Given the description of an element on the screen output the (x, y) to click on. 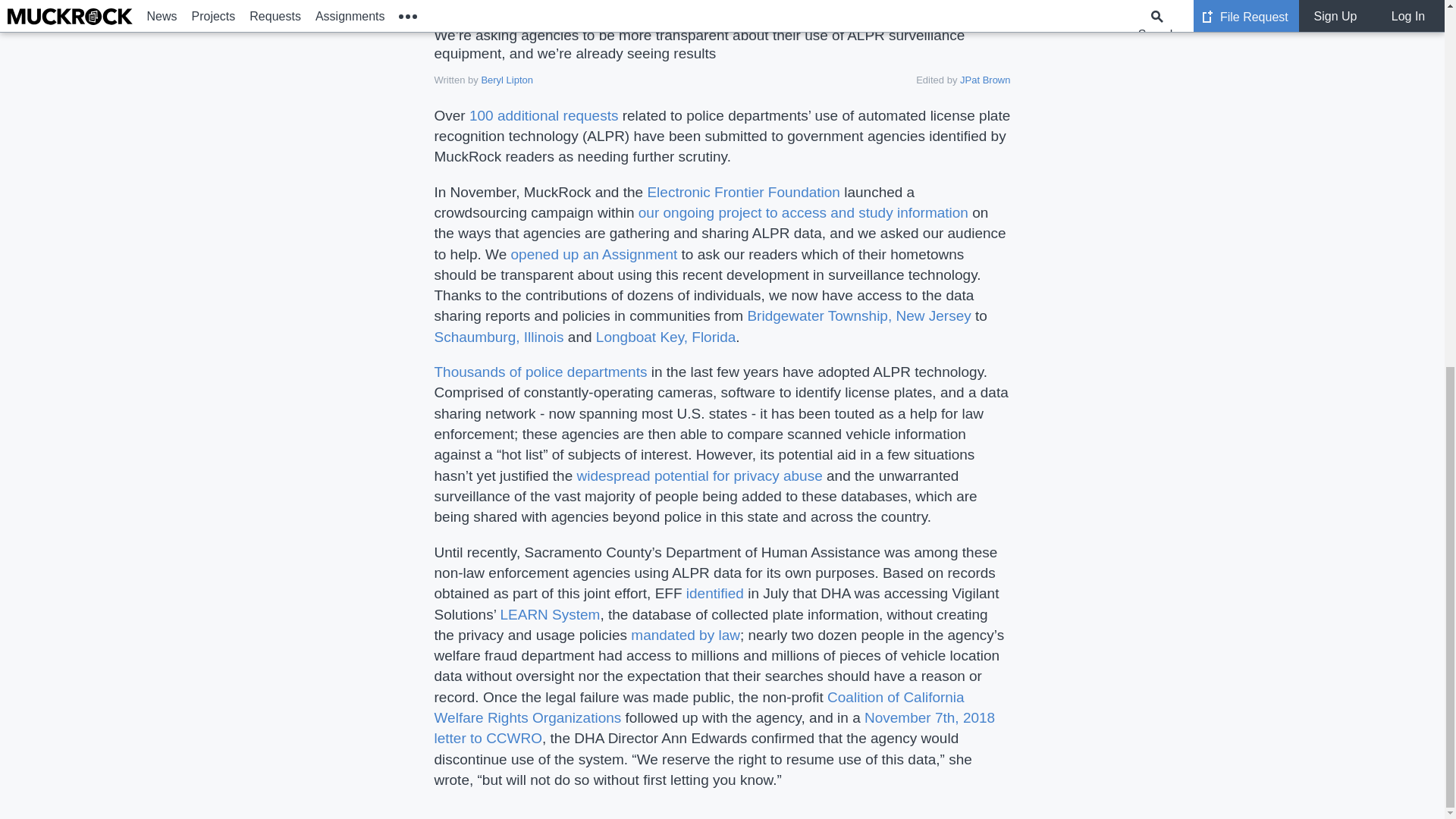
Bridgewater Township, New Jersey (858, 315)
Coalition of California Welfare Rights Organizations (698, 707)
100 additional requests (542, 115)
mandated by law (684, 634)
Longboat Key, Florida (665, 336)
identified (714, 593)
Thousands of police departments (539, 371)
JPat Brown (984, 79)
Beryl Lipton (506, 79)
JPat Brown (984, 79)
